Given the description of an element on the screen output the (x, y) to click on. 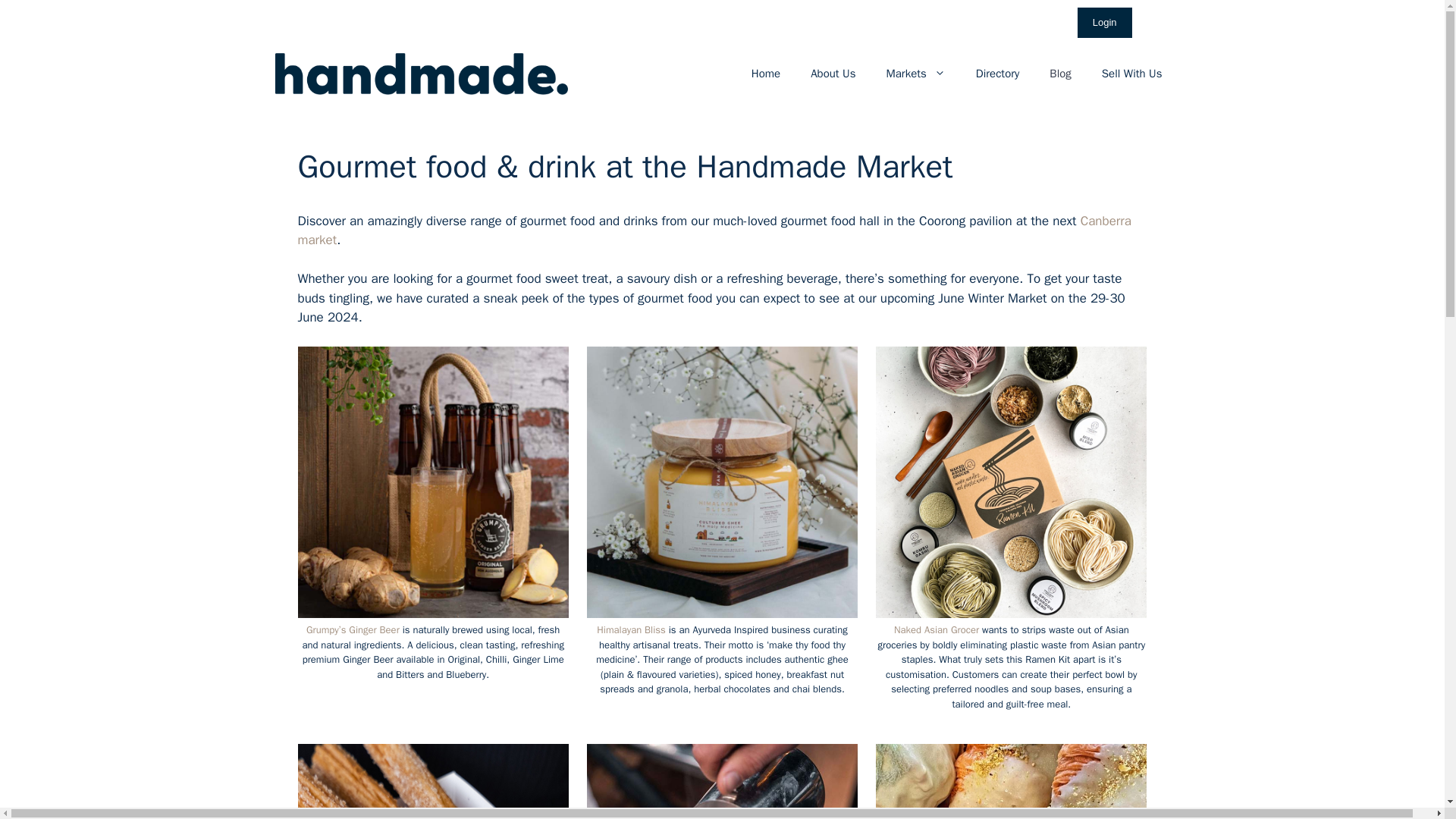
Blog (1059, 73)
Login (1104, 22)
Home (765, 73)
Himalayan Bliss (630, 629)
Markets (914, 73)
About Us (832, 73)
Sell With Us (1131, 73)
Canberra market (714, 230)
Directory (997, 73)
Handmade Canberra (421, 73)
Naked Asian Grocer (937, 629)
